Given the description of an element on the screen output the (x, y) to click on. 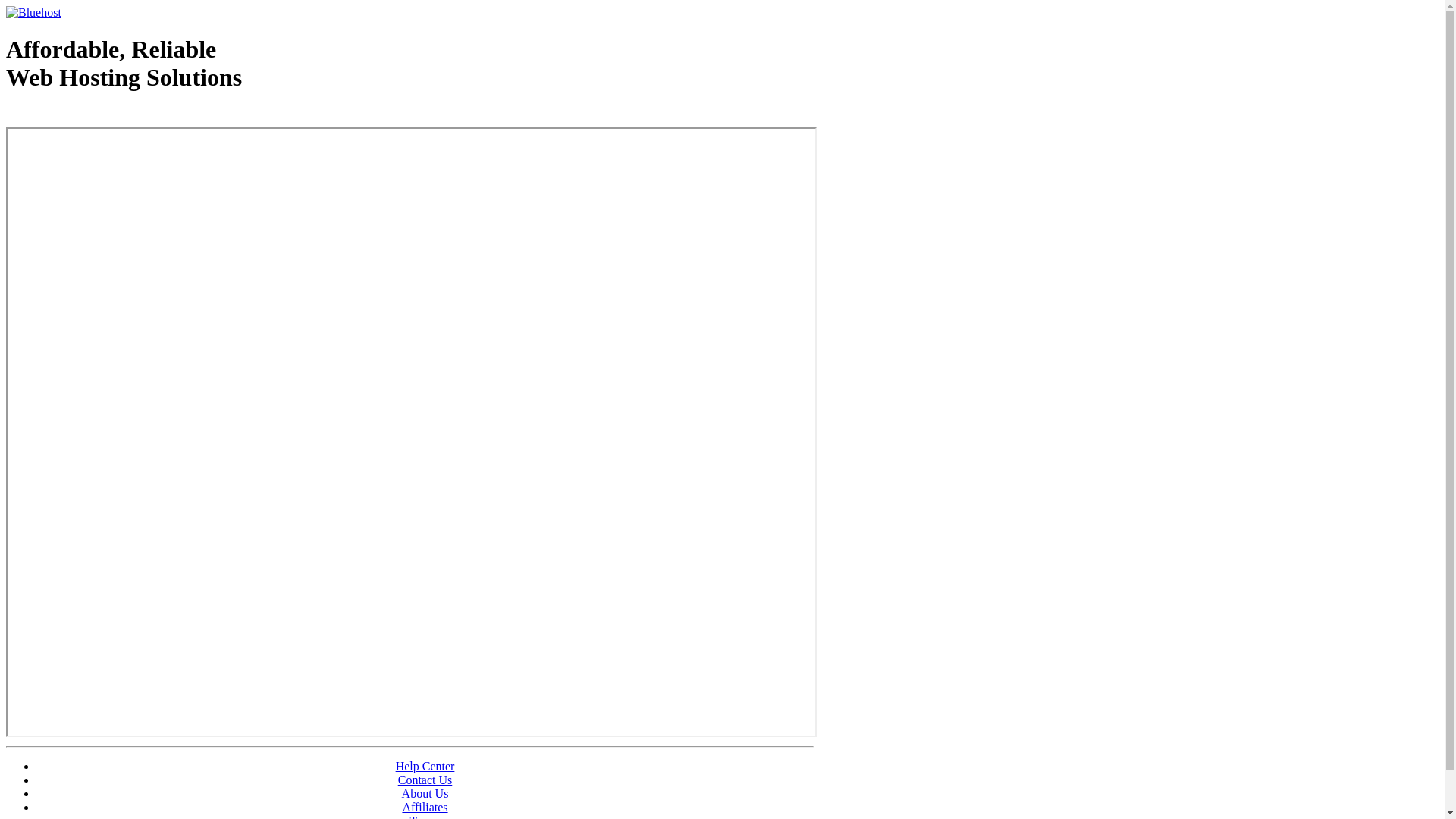
About Us Element type: text (424, 793)
Affiliates Element type: text (424, 806)
Contact Us Element type: text (425, 779)
Web Hosting - courtesy of www.bluehost.com Element type: text (94, 115)
Help Center Element type: text (425, 765)
